Given the description of an element on the screen output the (x, y) to click on. 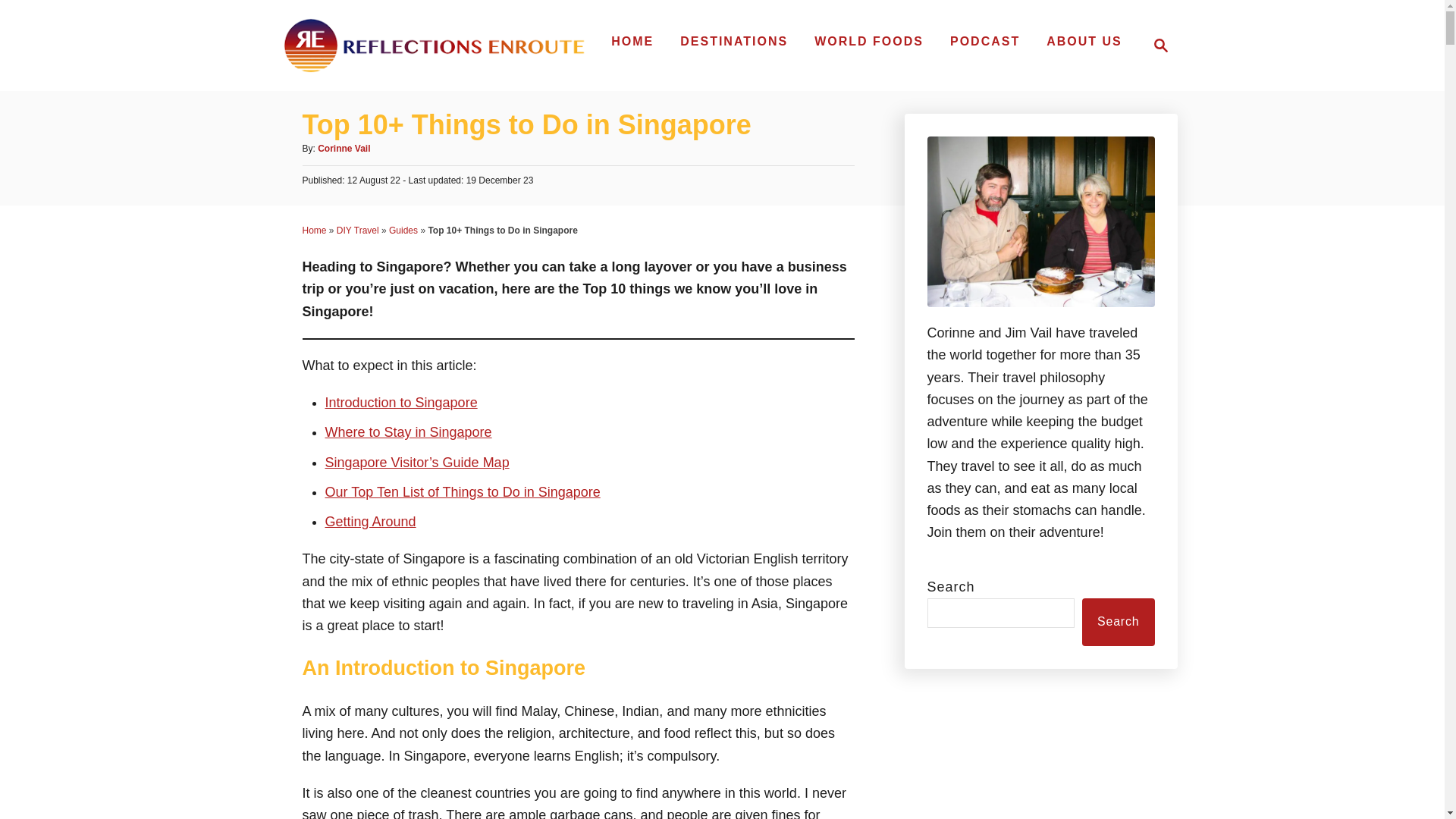
HOME (632, 41)
DIY Travel (357, 230)
Where to Stay in Singapore (408, 432)
PODCAST (984, 41)
ABOUT US (1084, 41)
DESTINATIONS (733, 41)
Introduction to Singapore (400, 402)
Guides (402, 230)
WORLD FOODS (868, 41)
Our Top Ten List of Things to Do in Singapore (461, 491)
Getting Around (369, 521)
Reflections Enroute (433, 45)
Magnifying Glass (1155, 45)
Home (1160, 45)
